Given the description of an element on the screen output the (x, y) to click on. 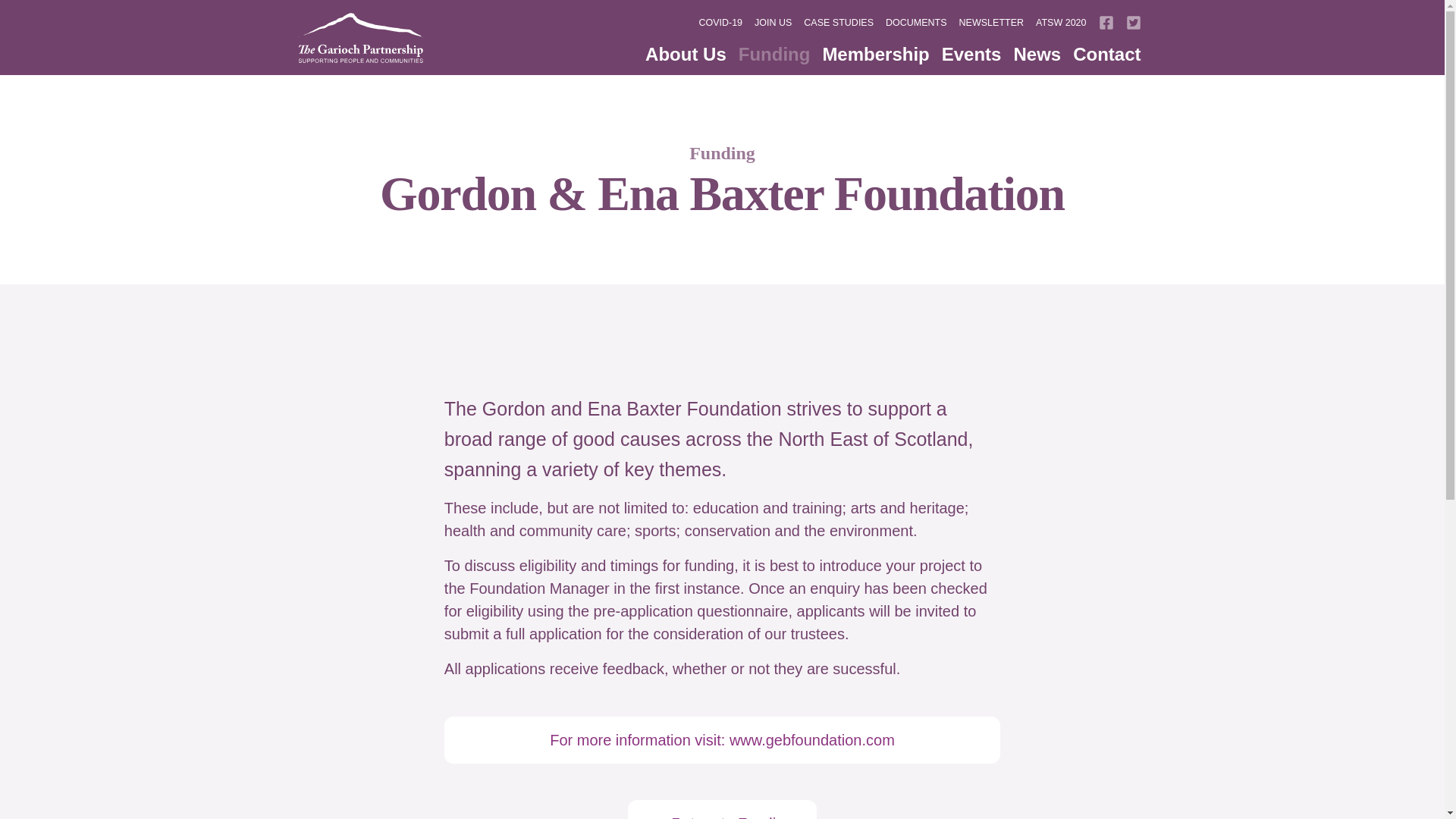
DOCUMENTS (916, 22)
Twitter (1133, 22)
JOIN US (772, 22)
NEWSLETTER (991, 22)
About Us (685, 54)
Membership (874, 54)
Contact (1107, 54)
For more information visit: www.gebfoundation.com (722, 739)
Funding (722, 153)
Events (971, 54)
